Given the description of an element on the screen output the (x, y) to click on. 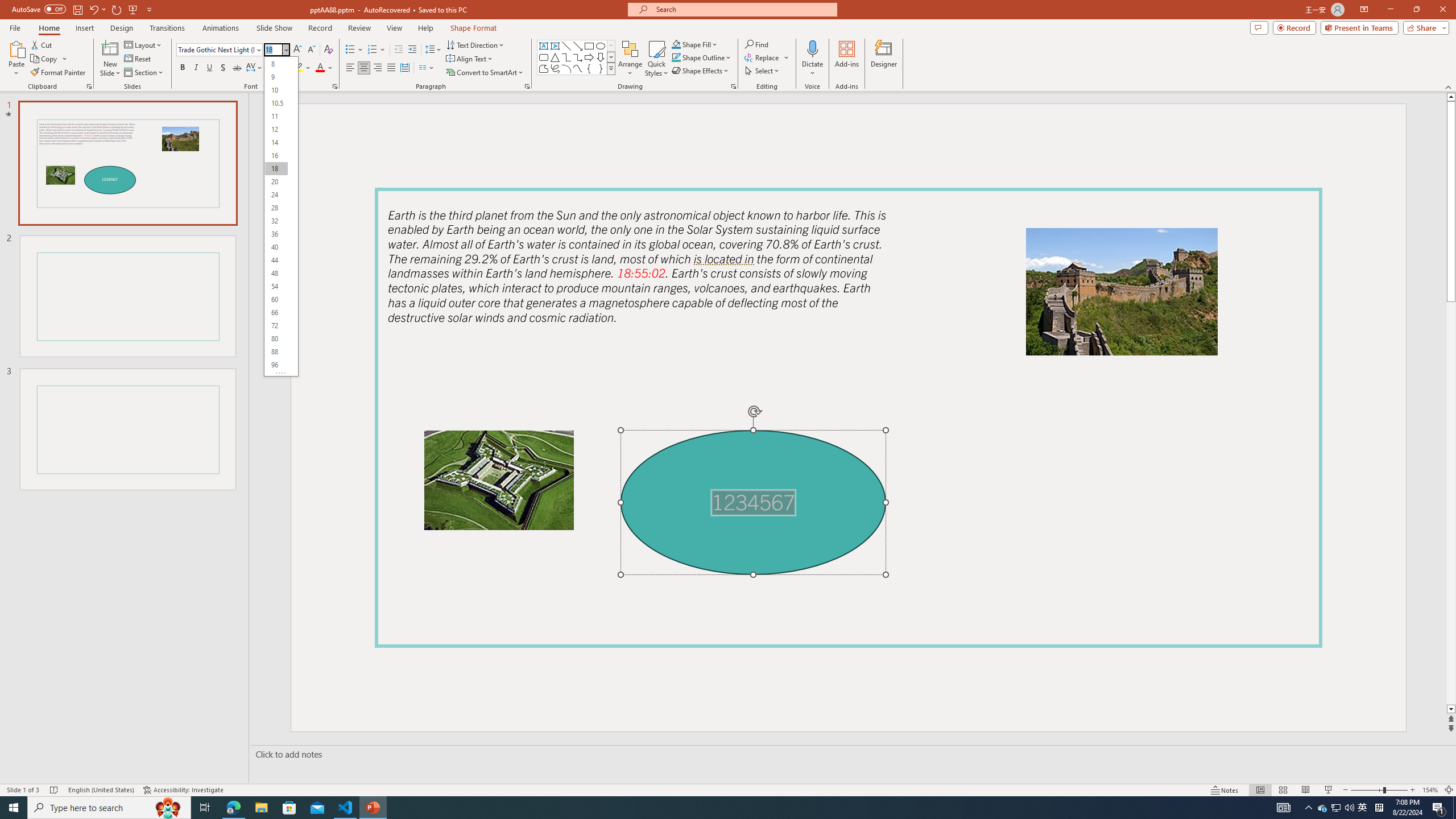
54 (276, 286)
8 (276, 63)
Zoom 154% (1430, 790)
